Given the description of an element on the screen output the (x, y) to click on. 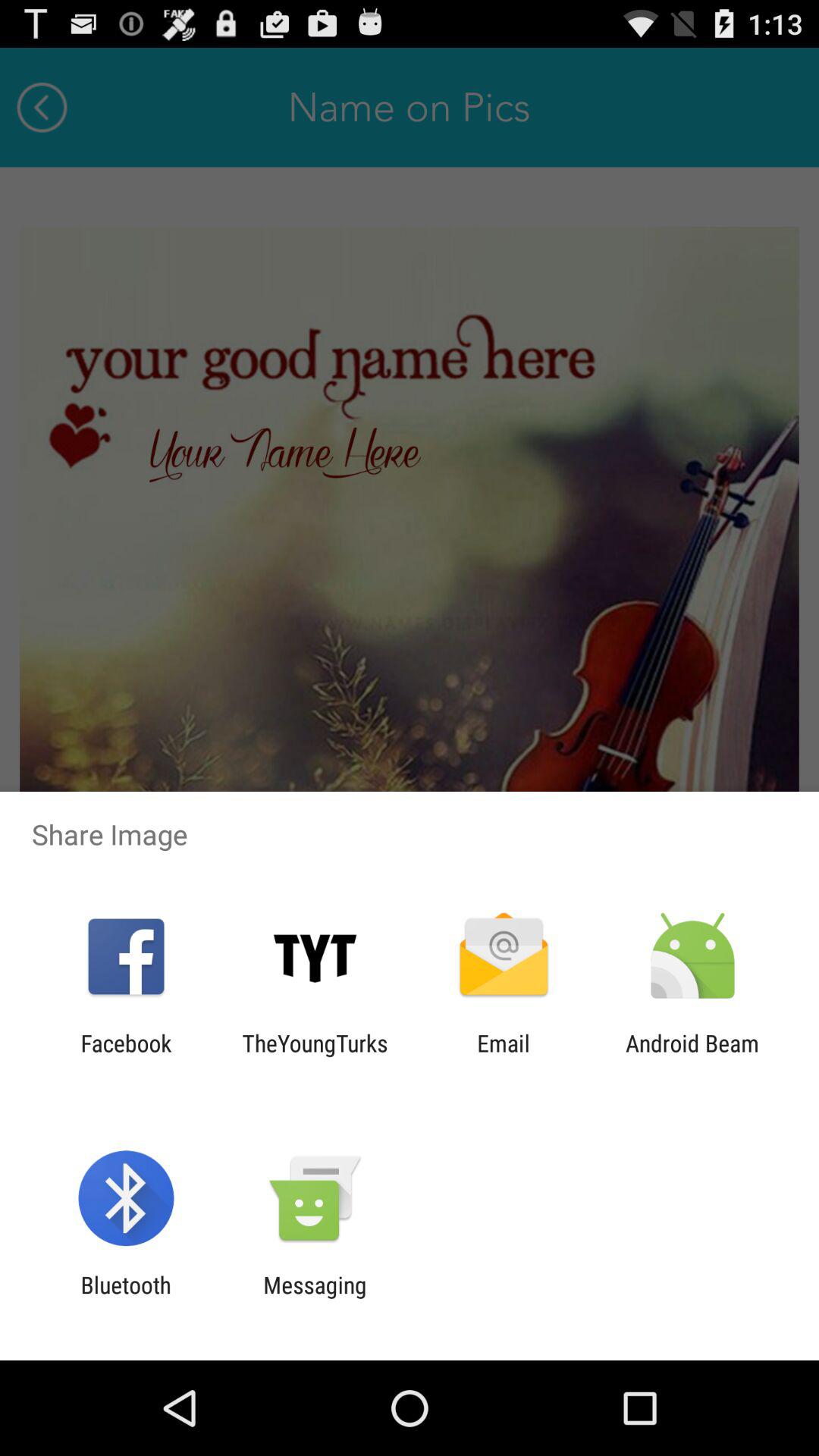
tap the app next to facebook (314, 1056)
